Given the description of an element on the screen output the (x, y) to click on. 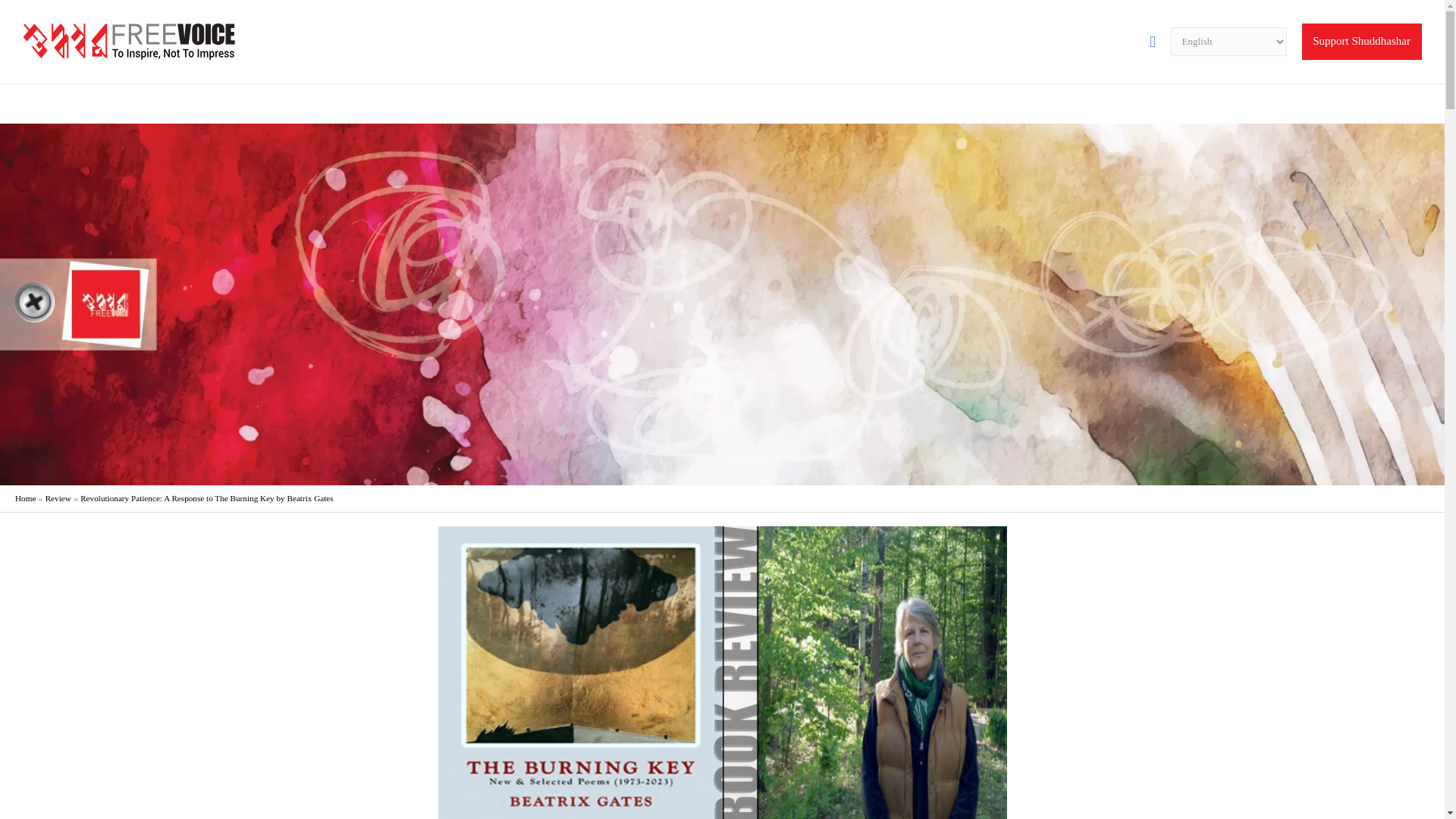
Books (1295, 103)
Home (1153, 103)
Events (1247, 103)
About (1199, 103)
Home (24, 497)
Review (58, 497)
Support Shuddhashar (1361, 41)
Submissions (1355, 103)
